Given the description of an element on the screen output the (x, y) to click on. 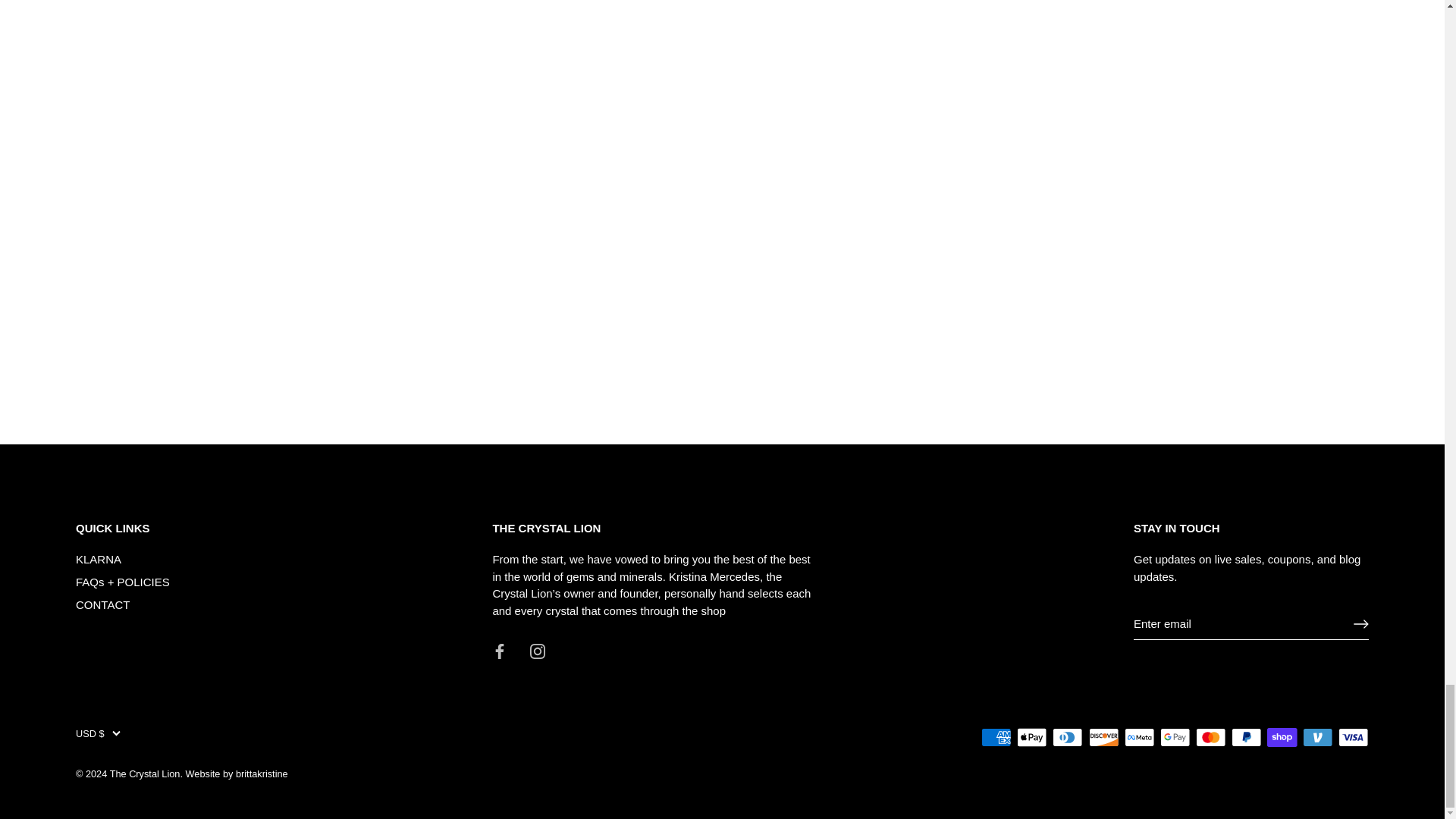
American Express (996, 736)
Discover (1104, 736)
Google Pay (1174, 736)
PayPal (1245, 736)
Mastercard (1210, 736)
Visa (1353, 736)
Diners Club (1067, 736)
Meta Pay (1139, 736)
Venmo (1317, 736)
Shop Pay (1281, 736)
